Given the description of an element on the screen output the (x, y) to click on. 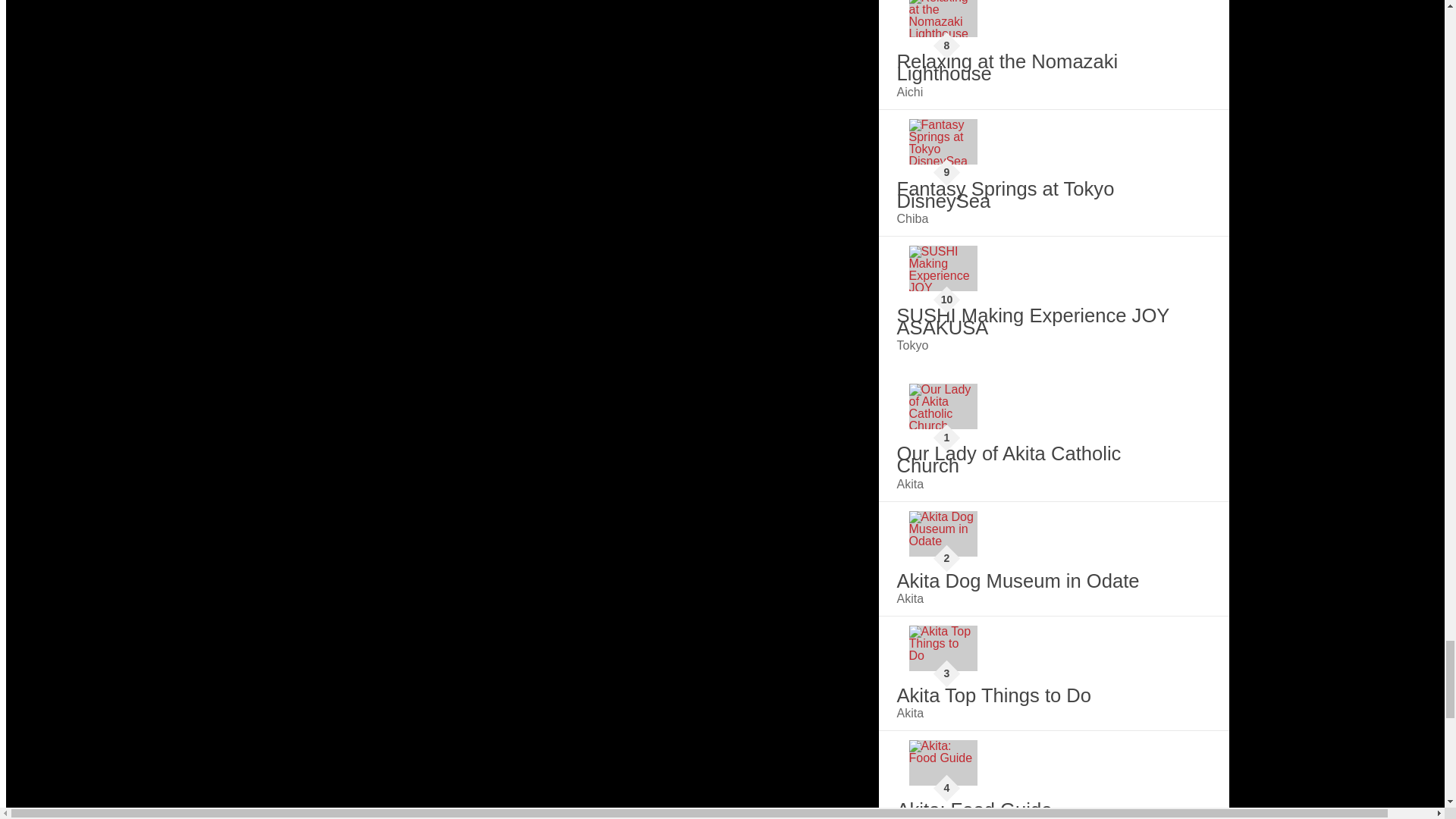
Fantasy Springs at Tokyo DisneySea (942, 141)
SUSHI Making Experience JOY ASAKUSA (942, 268)
Our Lady of Akita Catholic Church (942, 406)
Akita Top Things to Do (942, 647)
Relaxing at the Nomazaki Lighthouse (942, 18)
Akita: Food Guide (942, 762)
Akita Dog Museum in Odate (942, 533)
